Given the description of an element on the screen output the (x, y) to click on. 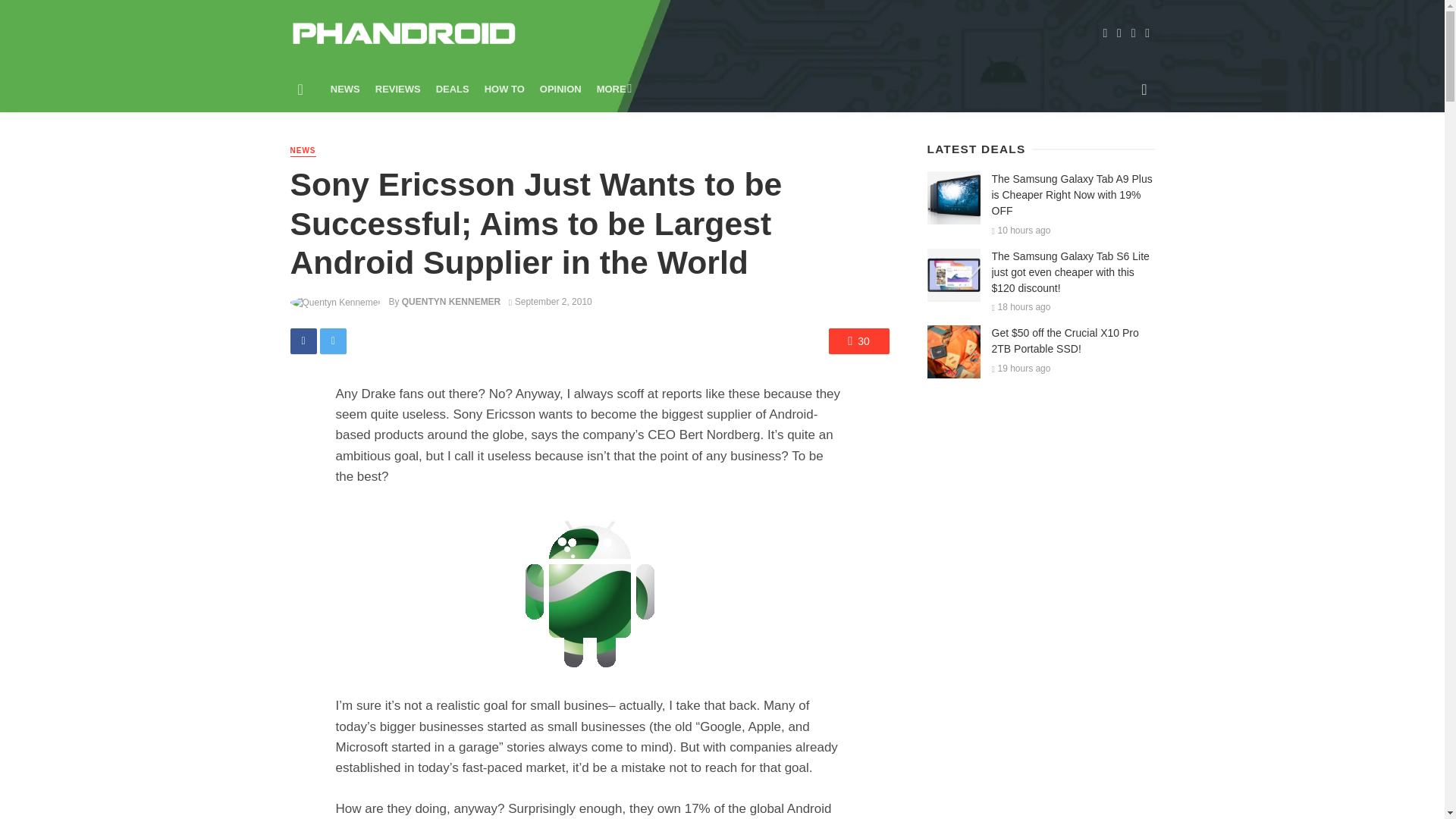
REVIEWS (398, 89)
30 (858, 340)
September 2, 2010 at 12:00 pm (550, 301)
NEWS (302, 151)
NEWS (345, 89)
QUENTYN KENNEMER (450, 301)
OPINION (560, 89)
30 Comments (858, 340)
DEALS (452, 89)
HOW TO (504, 89)
MORE (612, 89)
Share on Facebook (302, 340)
sony-ericsson-android (590, 590)
Share on Twitter (333, 340)
Posts by Quentyn Kennemer (450, 301)
